Given the description of an element on the screen output the (x, y) to click on. 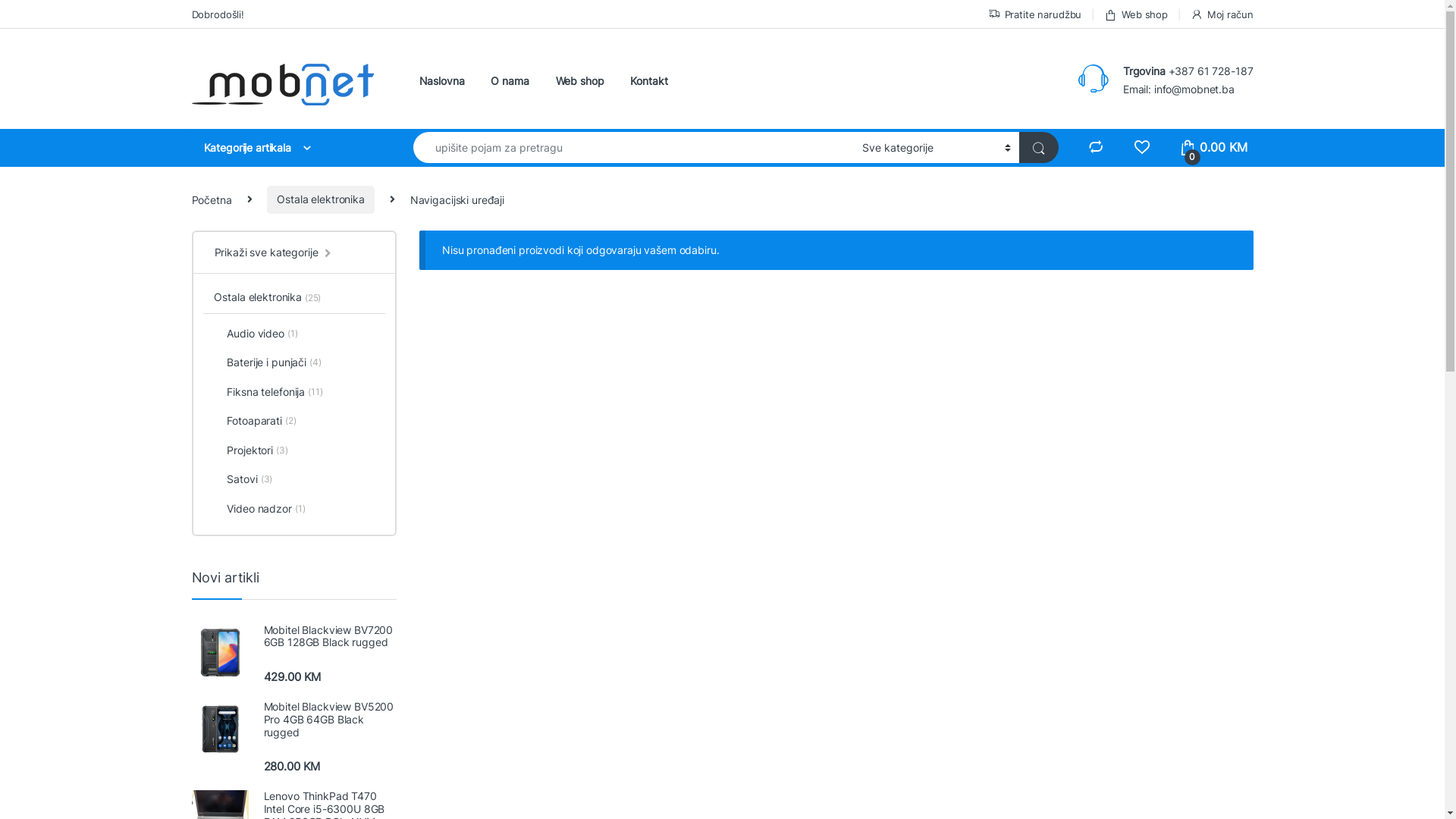
Fiksna telefonija
(11) Element type: text (294, 392)
Kontakt Element type: text (648, 80)
Audio video
(1) Element type: text (294, 331)
Kategorije artikala Element type: text (287, 147)
Projektori
(3) Element type: text (294, 451)
Ostala elektronika (25) Element type: text (262, 298)
Ostala elektronika Element type: text (319, 199)
Mobitel Blackview BV5200 Pro 4GB 64GB Black rugged Element type: text (293, 719)
Fotoaparati
(2) Element type: text (294, 422)
0
0.00 KM Element type: text (1213, 147)
Satovi
(3) Element type: text (294, 480)
Naslovna Element type: text (441, 80)
Mobitel Blackview BV7200 6GB 128GB Black rugged Element type: text (293, 636)
Web shop Element type: text (579, 80)
Video nadzor
(1) Element type: text (294, 509)
O nama Element type: text (509, 80)
Web shop Element type: text (1135, 14)
